Given the description of an element on the screen output the (x, y) to click on. 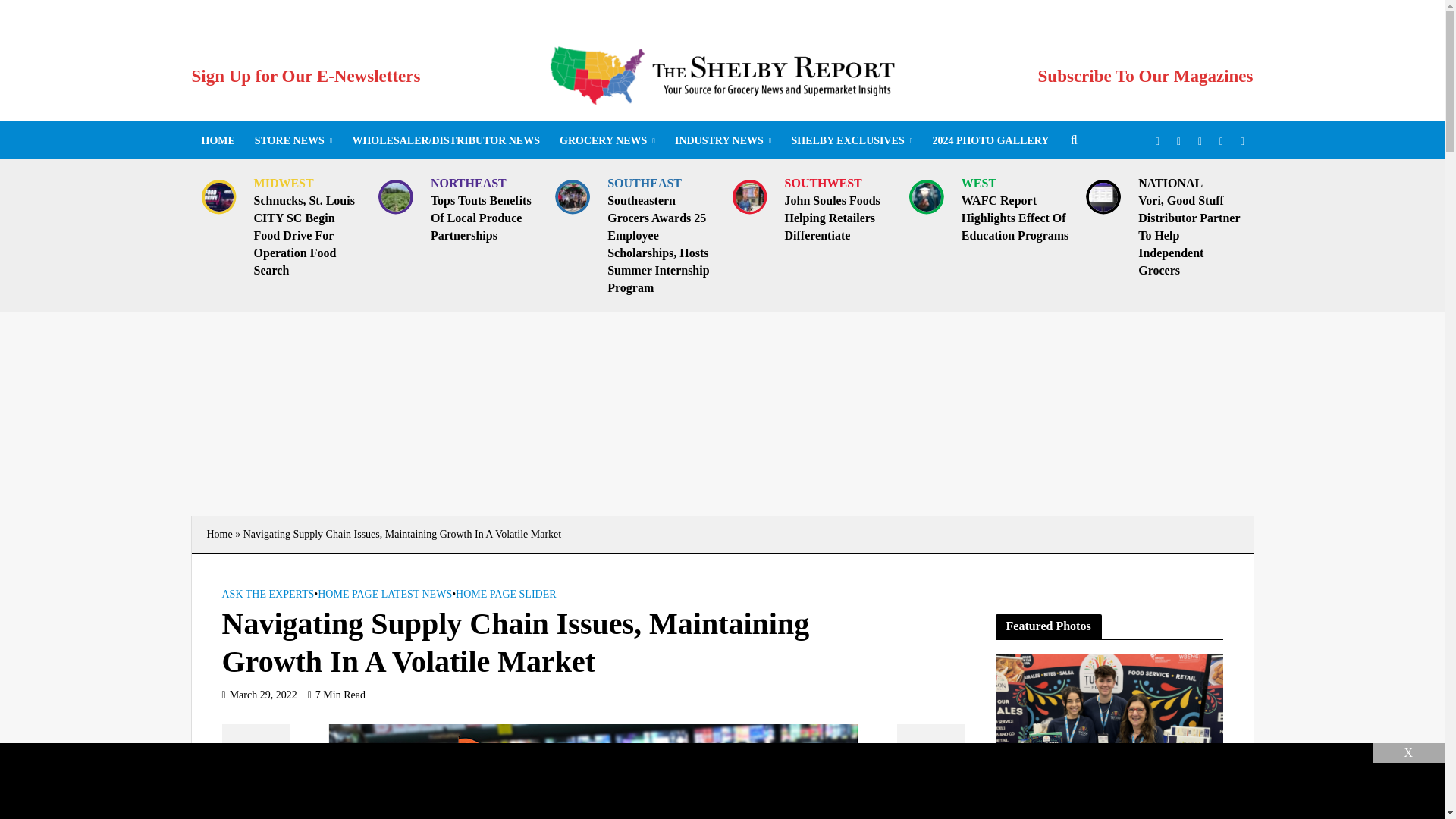
Subscribe To Our Magazines (1145, 76)
GROCERY NEWS (607, 140)
STORE NEWS (293, 140)
INDUSTRY NEWS (723, 140)
HOME (217, 140)
Sign Up for Our E-Newsletters (305, 76)
SHELBY EXCLUSIVES (850, 140)
